Given the description of an element on the screen output the (x, y) to click on. 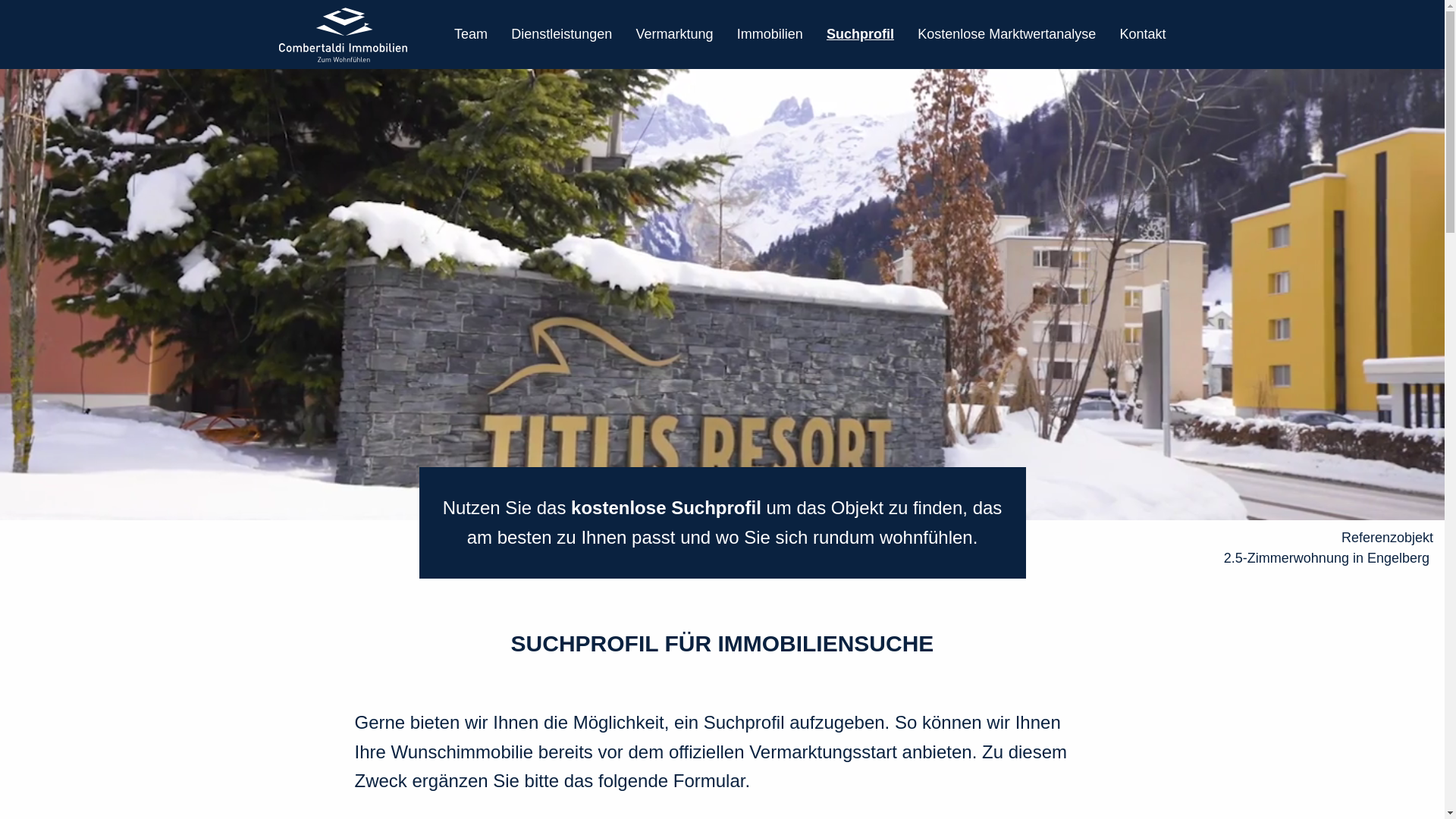
Dienstleistungen Element type: text (561, 34)
Team Element type: text (470, 34)
Kontakt Element type: text (1142, 34)
Suchprofil Element type: text (860, 34)
Vermarktung Element type: text (673, 34)
Kostenlose Marktwertanalyse Element type: text (1006, 34)
Immobilien Element type: text (770, 34)
